Given the description of an element on the screen output the (x, y) to click on. 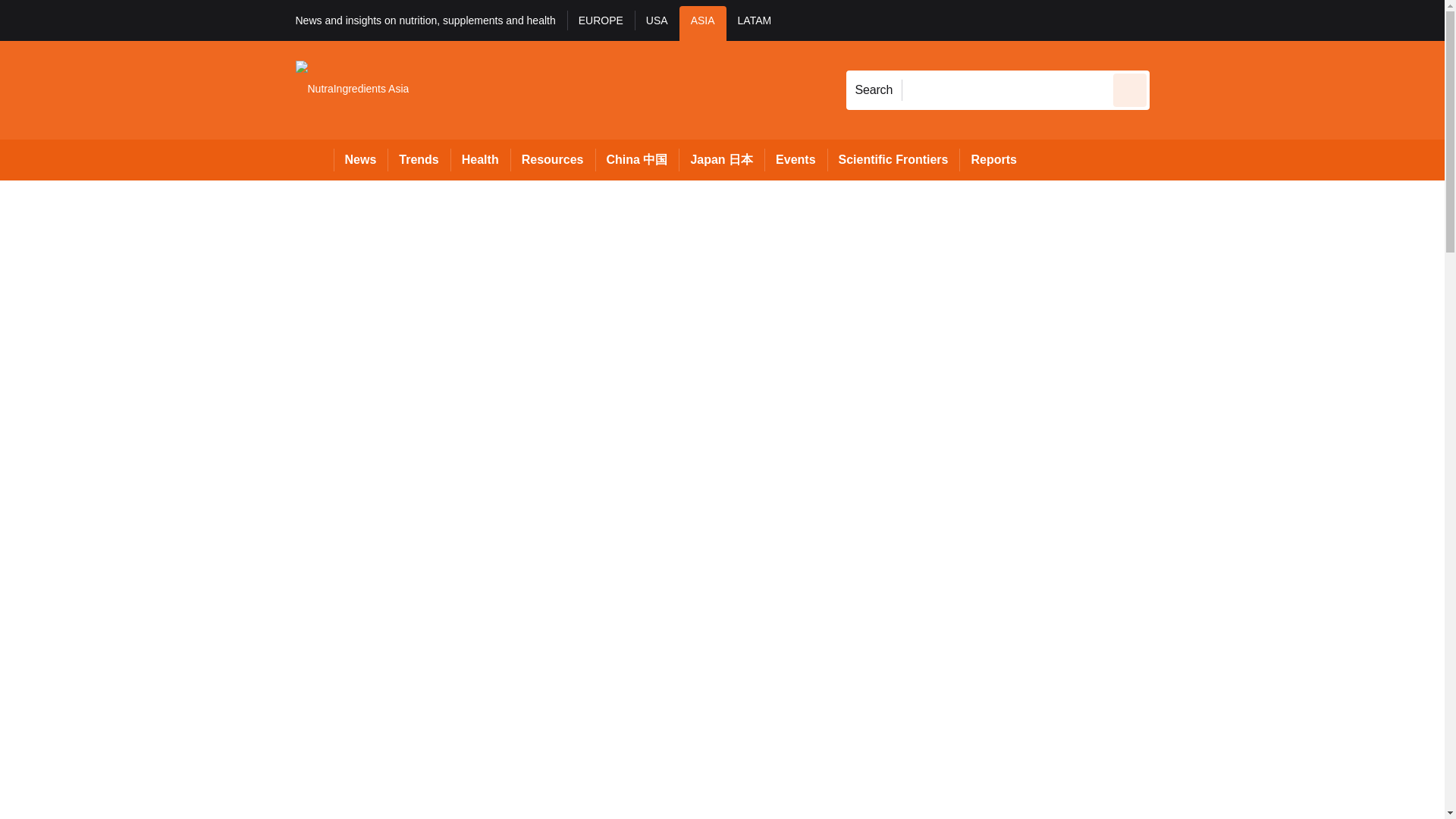
ASIA (702, 22)
SUBSCRIBE (1318, 20)
Register (1231, 20)
NutraIngredients Asia (352, 89)
Send (1129, 90)
Home (313, 159)
My account (1256, 20)
Home (314, 159)
Sign out (1174, 20)
LATAM (754, 22)
